Given the description of an element on the screen output the (x, y) to click on. 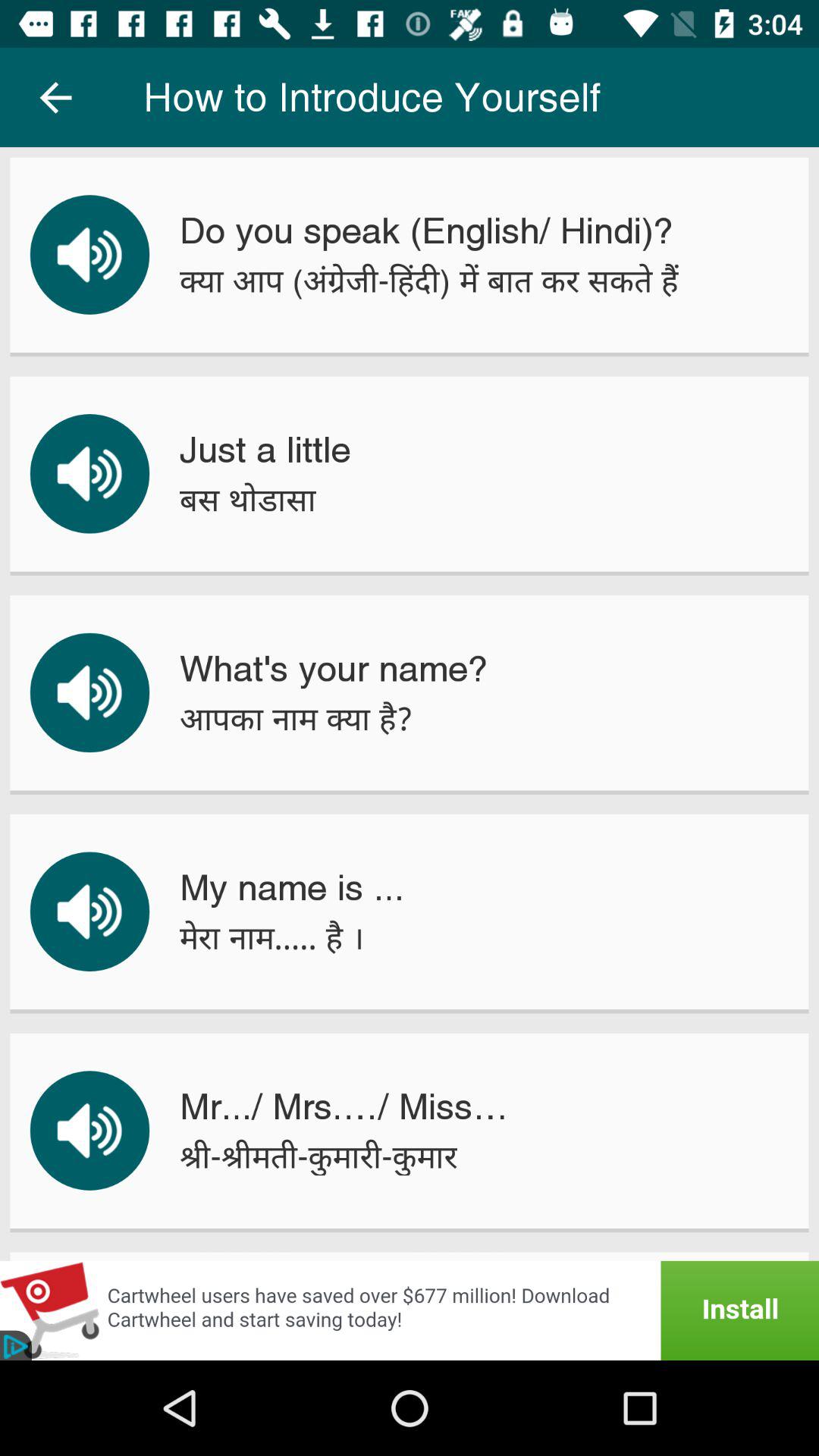
launch item below the how to introduce icon (426, 230)
